Given the description of an element on the screen output the (x, y) to click on. 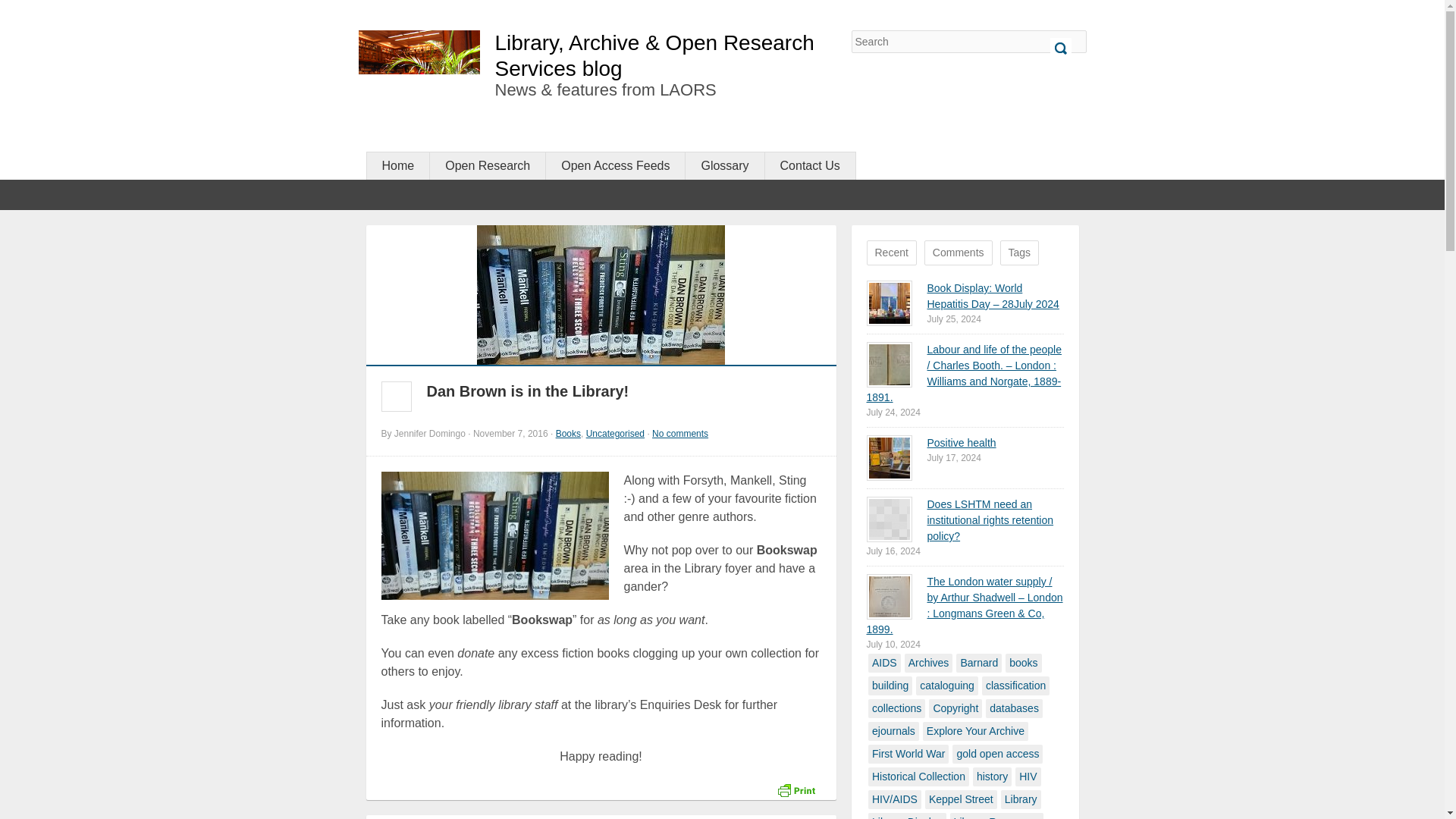
Contact Us (810, 165)
Glossary (723, 165)
Open Access Feeds (615, 165)
Permalink to Positive health (960, 442)
Search (1059, 47)
Permalink to Positive health (888, 457)
Home (397, 165)
Books (568, 433)
